Given the description of an element on the screen output the (x, y) to click on. 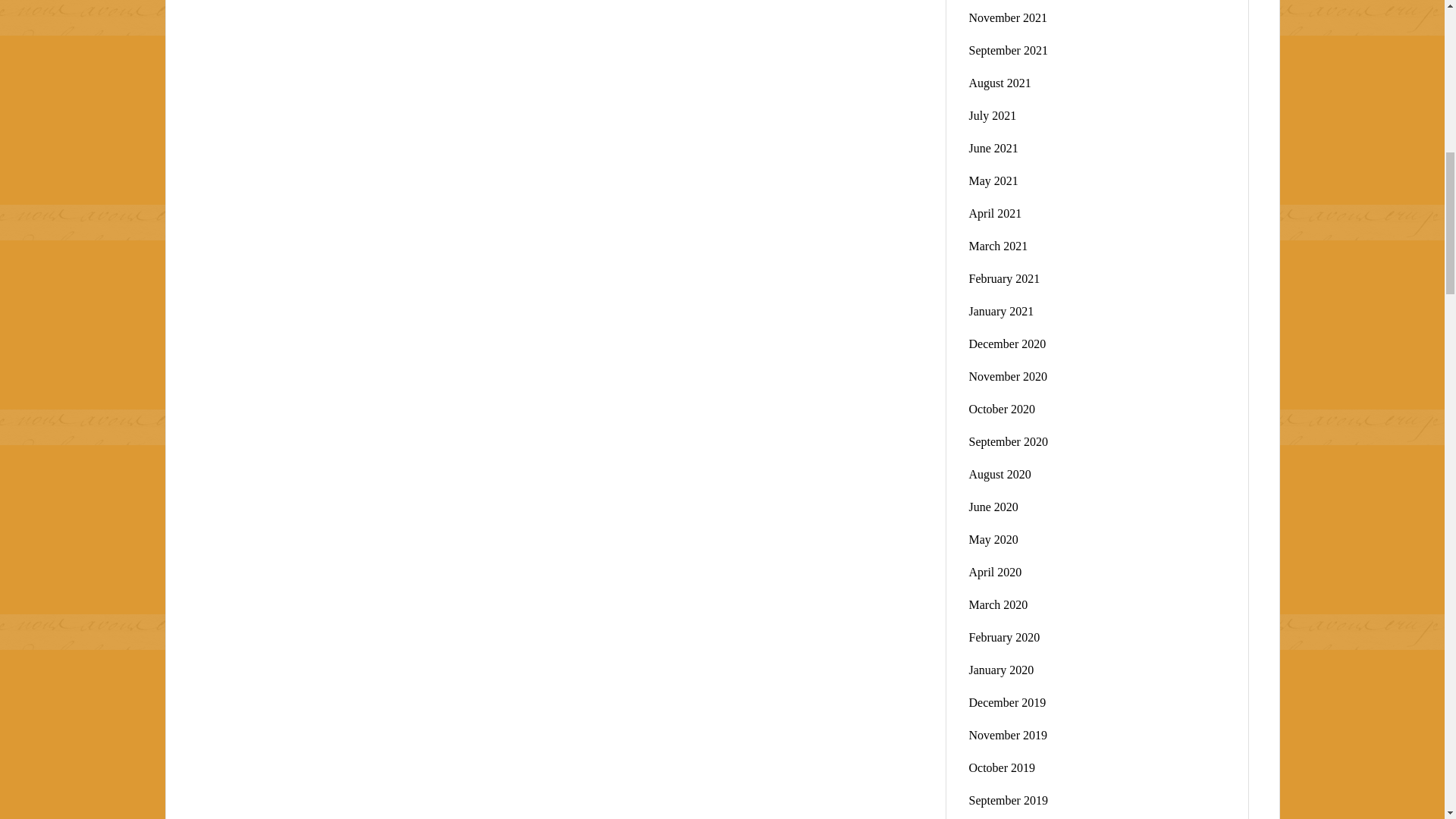
August 2021 (999, 82)
September 2021 (1008, 50)
June 2020 (993, 506)
January 2021 (1001, 310)
February 2021 (1005, 278)
May 2021 (993, 180)
November 2019 (1008, 735)
July 2021 (992, 115)
October 2020 (1002, 408)
May 2020 (993, 539)
